Given the description of an element on the screen output the (x, y) to click on. 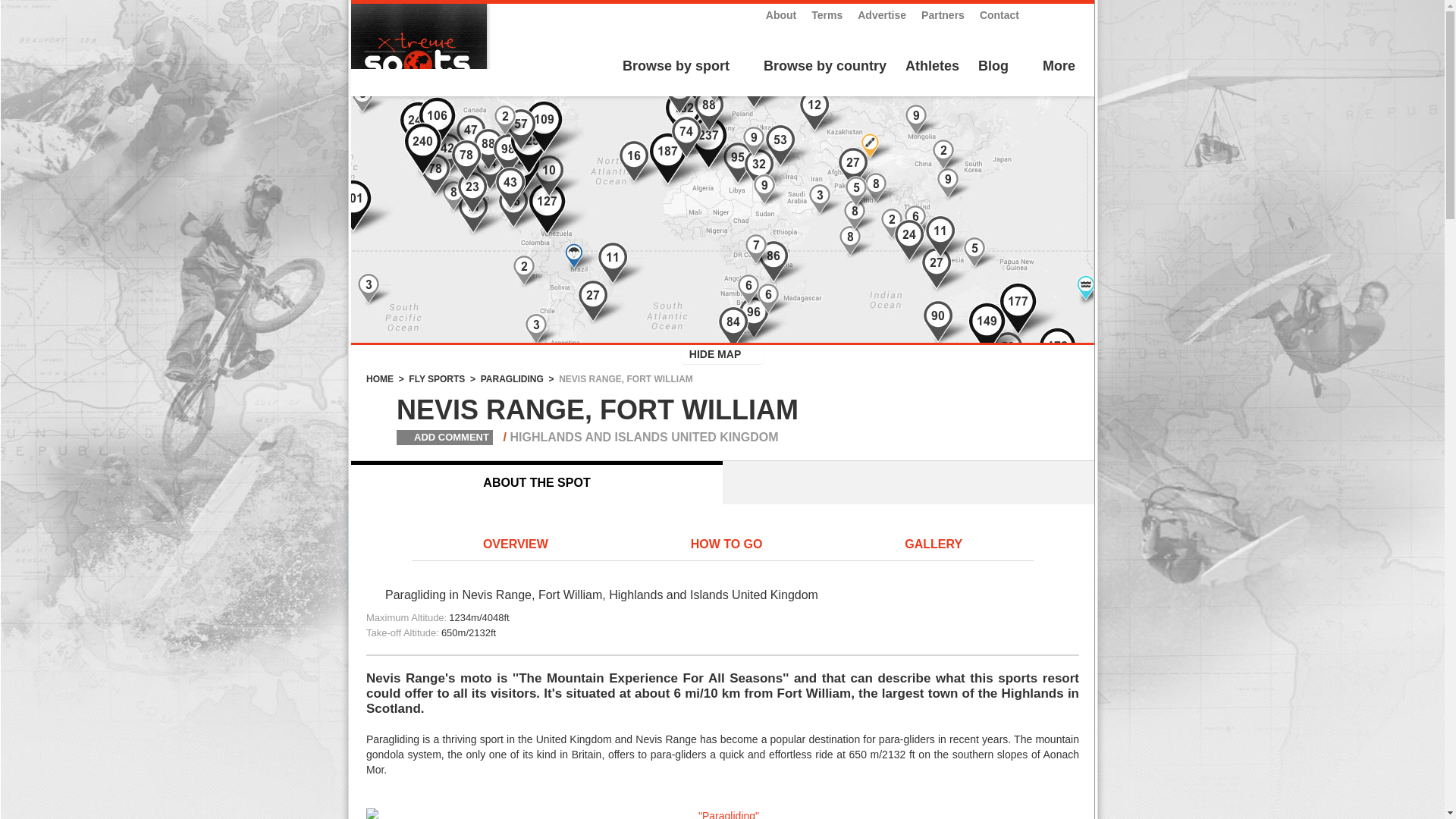
Blog (993, 67)
Browse by sport (674, 67)
OVERVIEW (516, 545)
ADD COMMENT (431, 437)
Athletes (932, 67)
FLY SPORTS (436, 378)
Paragliding (722, 813)
PARAGLIDING (511, 378)
Contact (999, 15)
Terms (826, 15)
HOW TO GO (727, 545)
Advertise (881, 15)
Partners (942, 15)
GALLERY (932, 545)
HOME (379, 378)
